Given the description of an element on the screen output the (x, y) to click on. 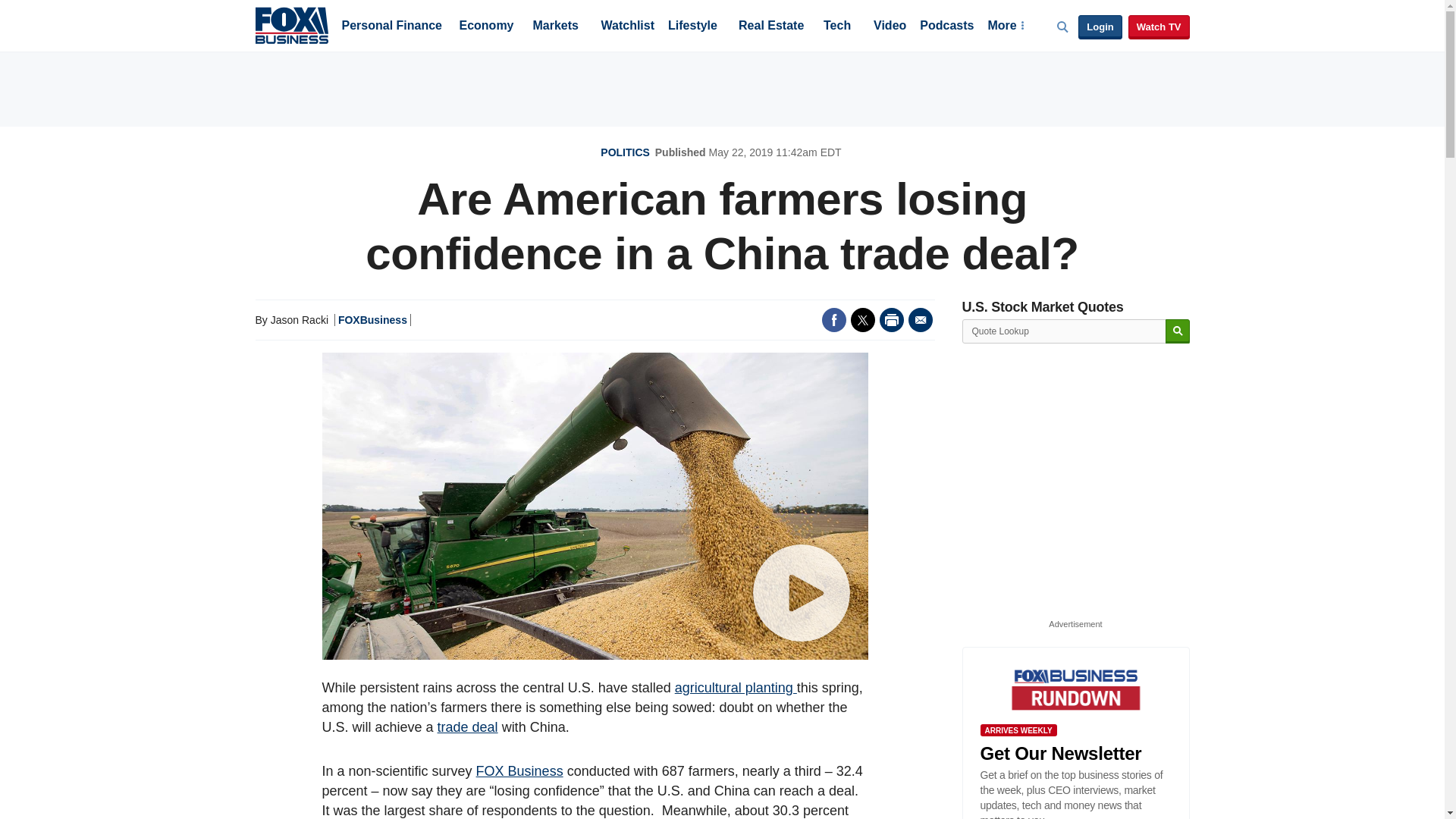
Real Estate (770, 27)
Video (889, 27)
Personal Finance (391, 27)
Lifestyle (692, 27)
Economy (486, 27)
Search (1176, 331)
More (1005, 27)
Podcasts (947, 27)
Markets (555, 27)
Login (1099, 27)
Watchlist (626, 27)
Search (1176, 331)
Watch TV (1158, 27)
Tech (837, 27)
Fox Business (290, 24)
